Given the description of an element on the screen output the (x, y) to click on. 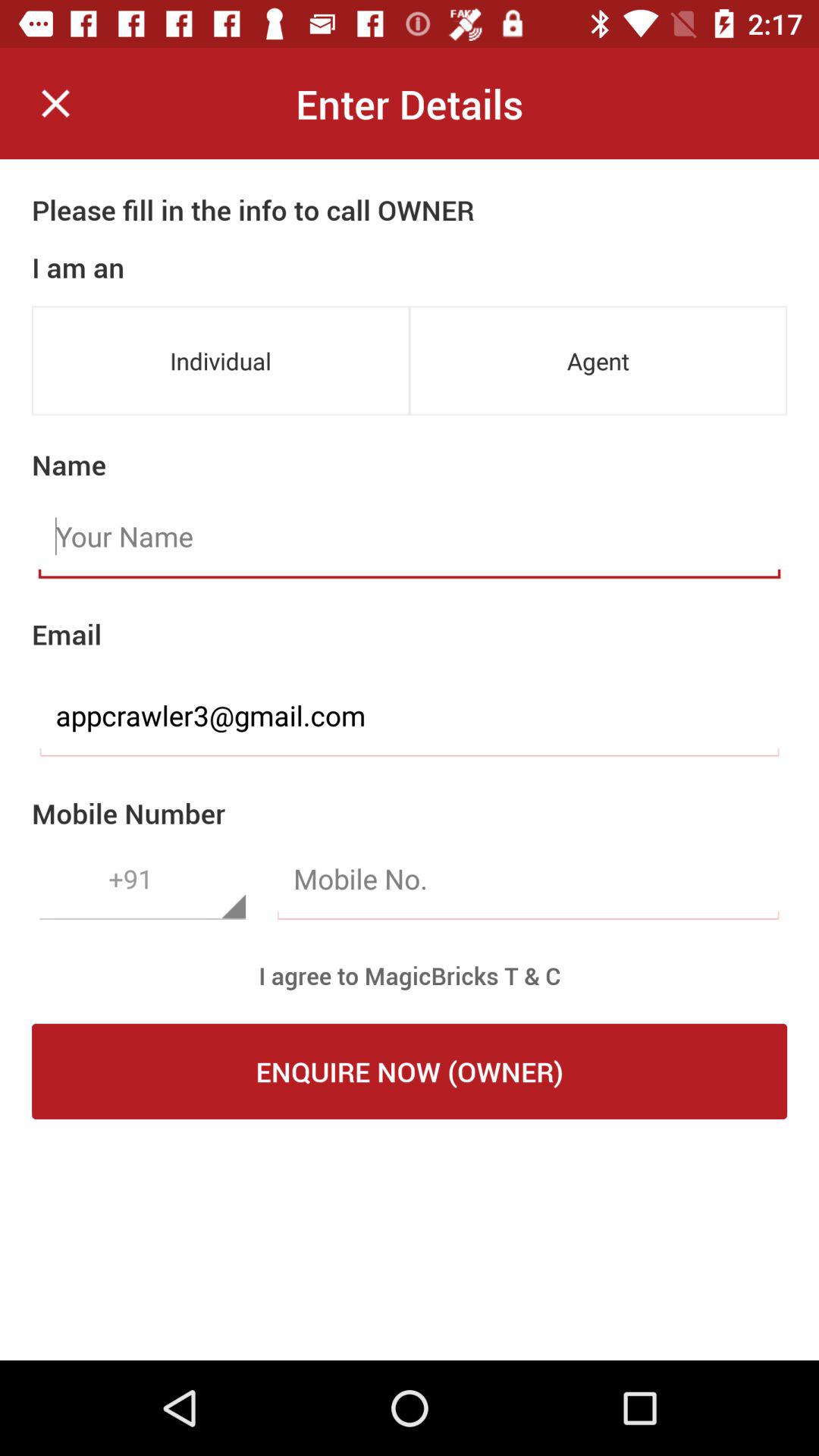
swipe to enquire now (owner) icon (409, 1071)
